Given the description of an element on the screen output the (x, y) to click on. 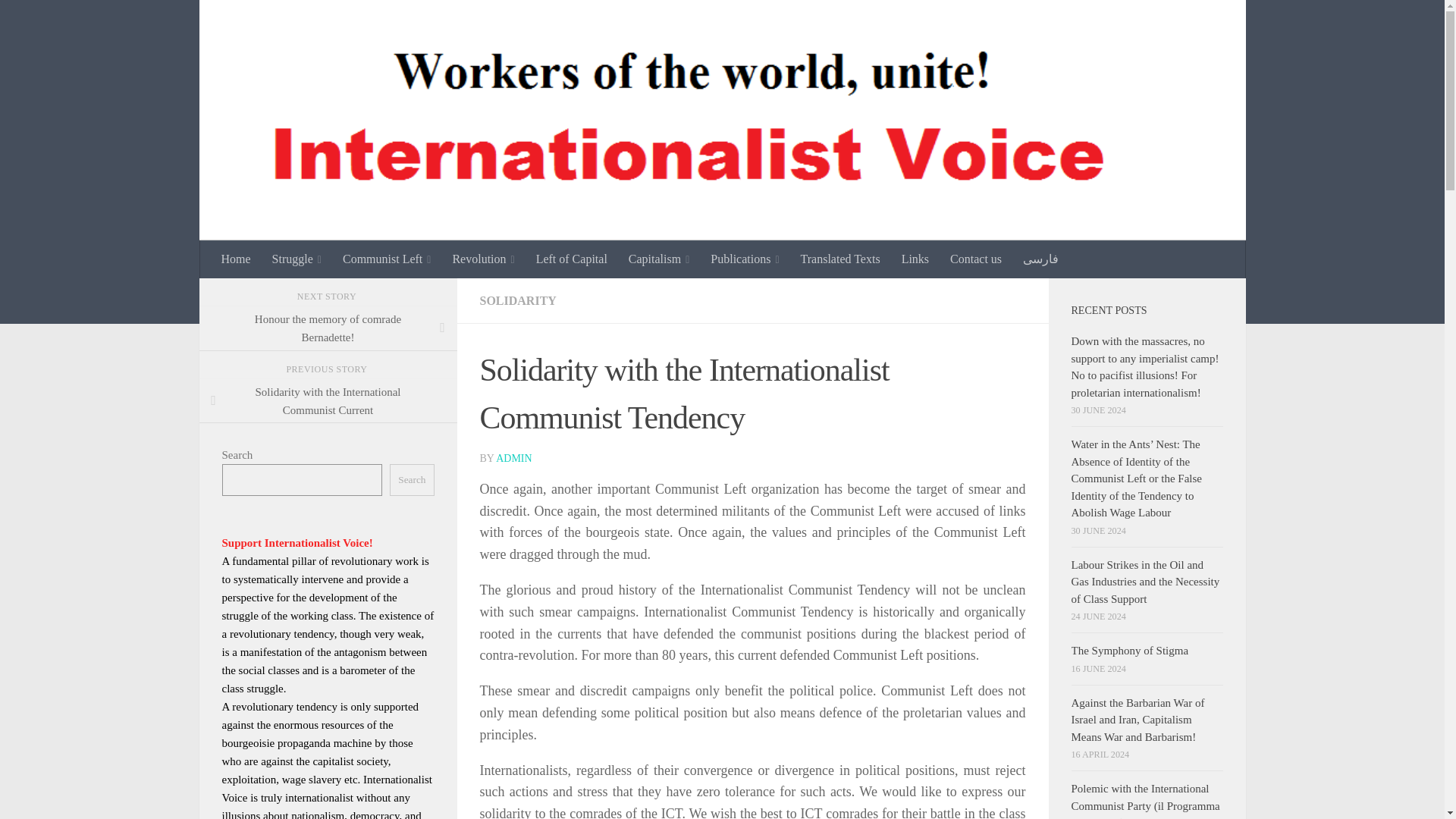
Struggle (296, 259)
Home (236, 259)
Skip to content (59, 20)
Posts by Admin (513, 458)
